Given the description of an element on the screen output the (x, y) to click on. 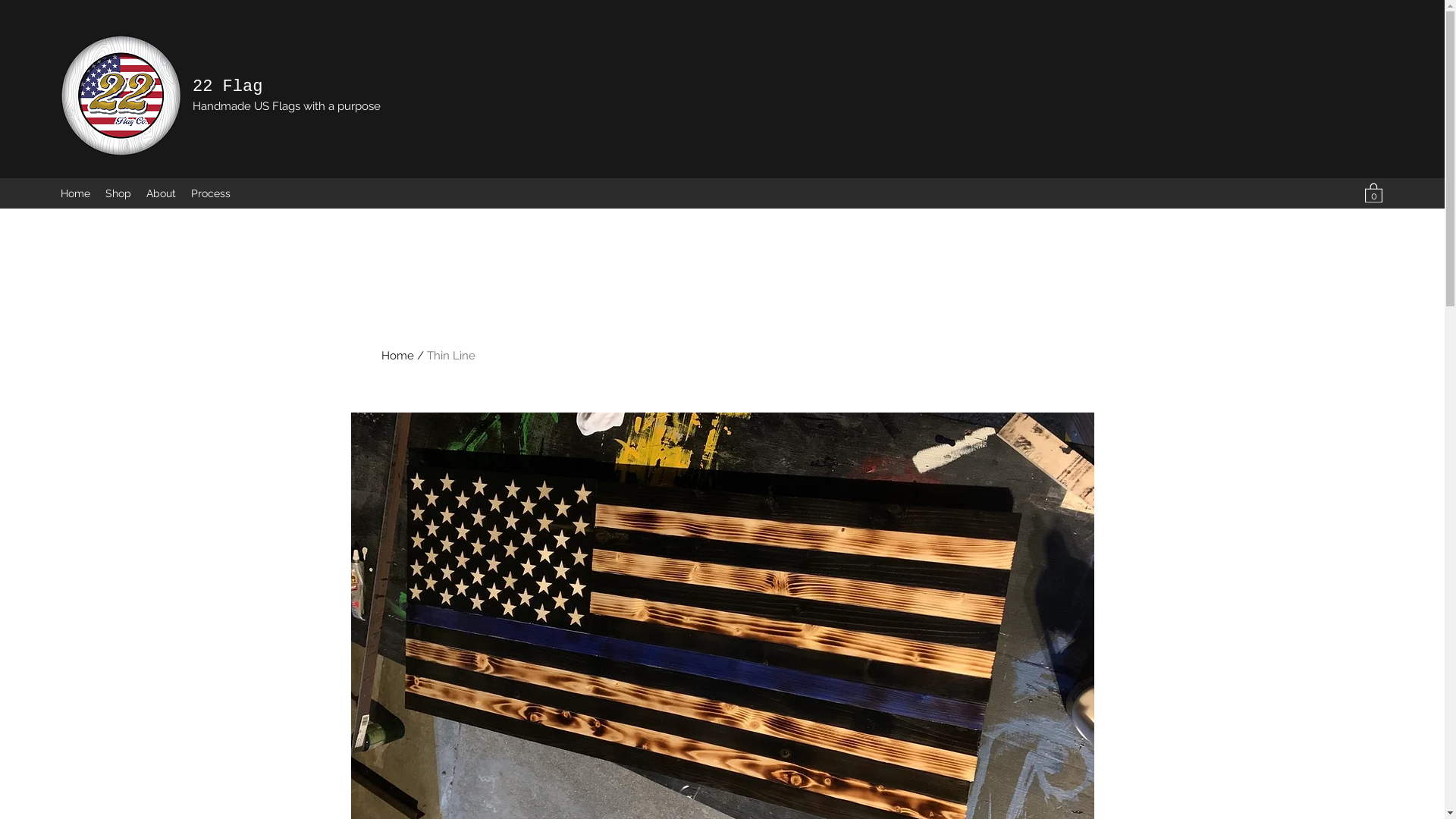
Home Element type: text (396, 355)
Home Element type: text (75, 193)
About Element type: text (160, 193)
Thin Line Element type: text (450, 355)
Shop Element type: text (117, 193)
22 Flag Element type: text (227, 86)
0 Element type: text (1373, 192)
Process Element type: text (210, 193)
